Given the description of an element on the screen output the (x, y) to click on. 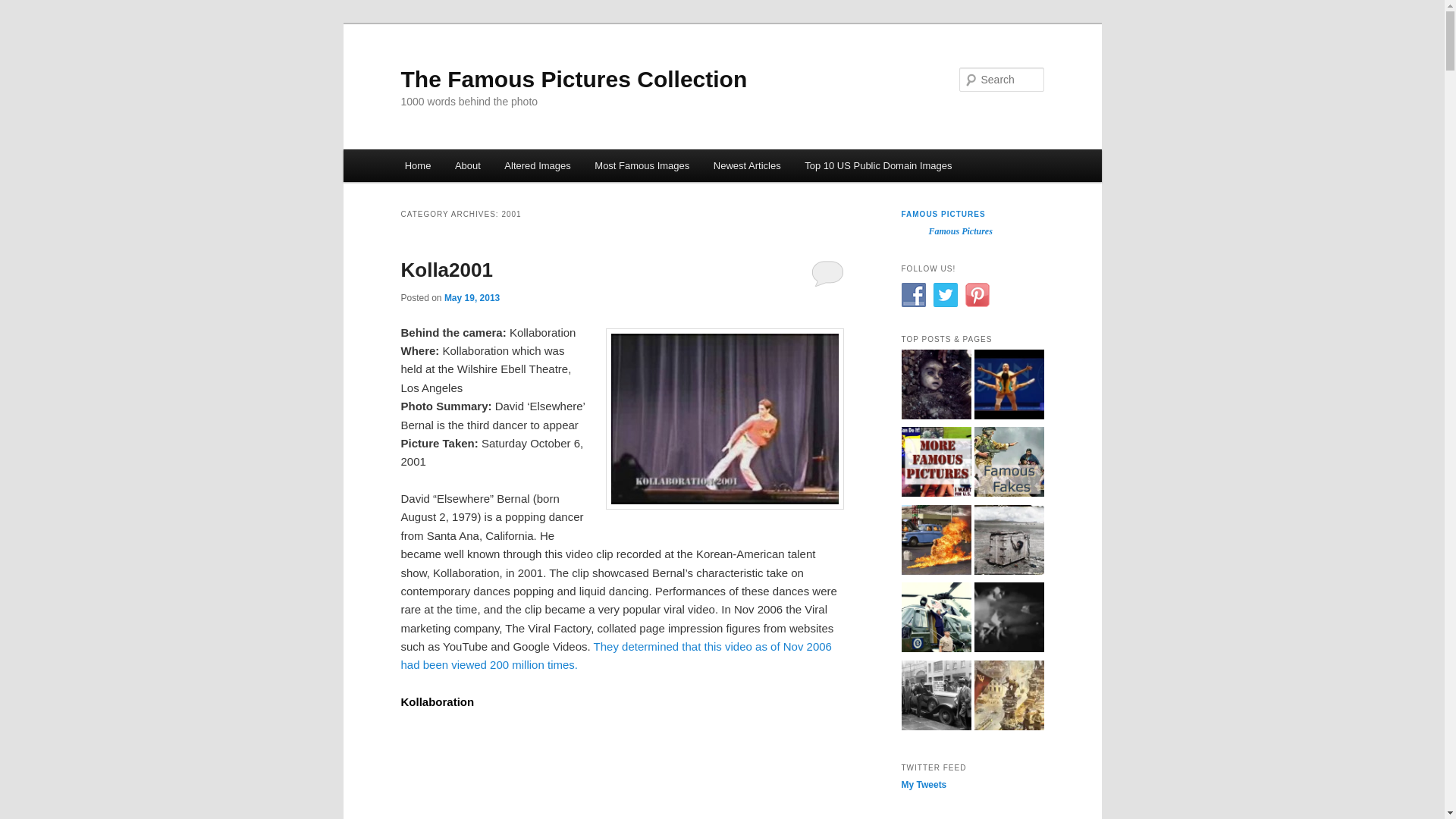
4:10 am (471, 297)
Kolla2001 (446, 269)
Altered Images (538, 165)
Top 10 US Public Domain Images (877, 165)
Most Famous Images (642, 165)
Home (417, 165)
The Famous Pictures Collection (573, 78)
Search (24, 8)
